Given the description of an element on the screen output the (x, y) to click on. 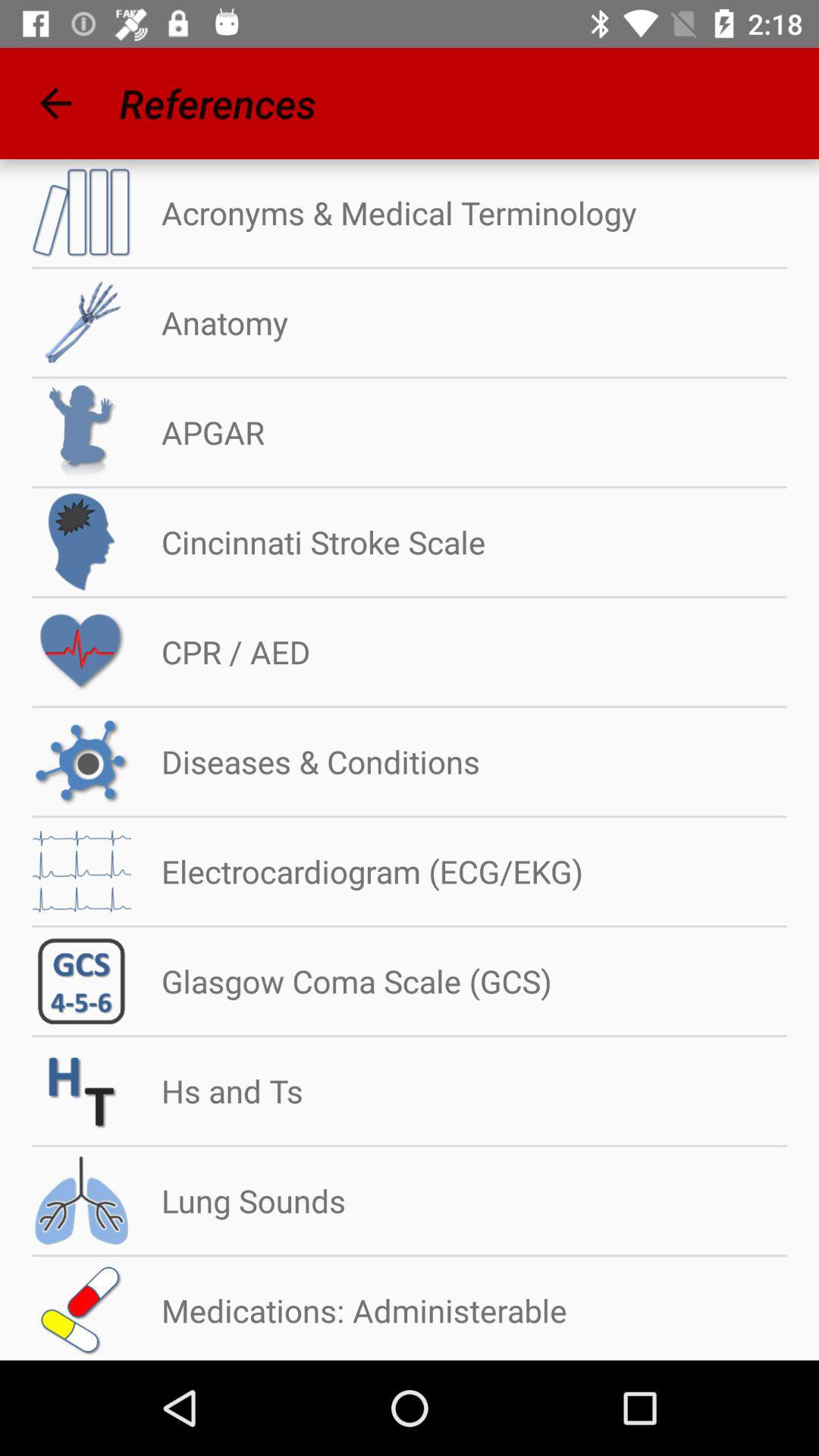
press medications: administerable item (349, 1310)
